Given the description of an element on the screen output the (x, y) to click on. 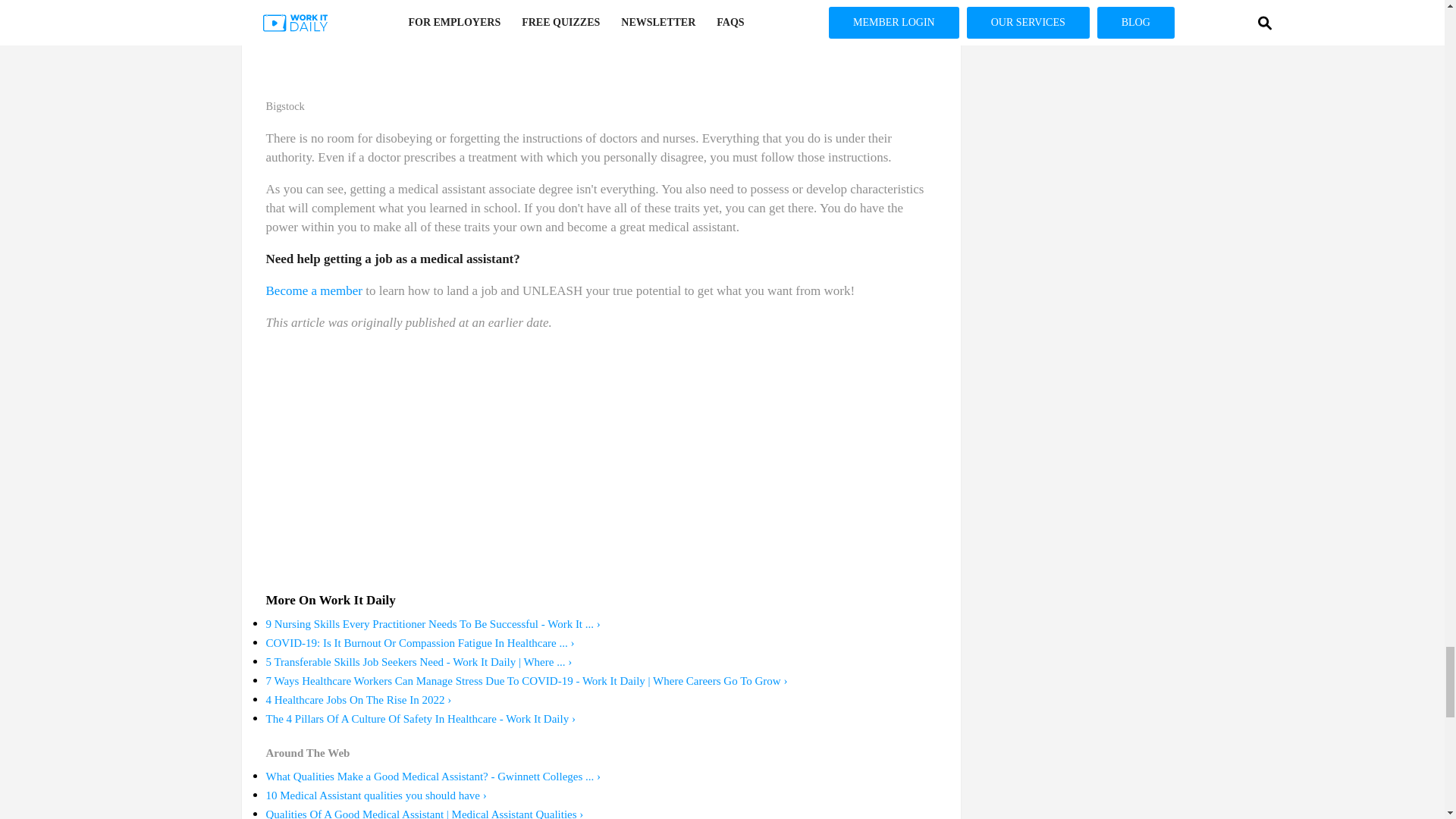
Become a member (312, 290)
